Given the description of an element on the screen output the (x, y) to click on. 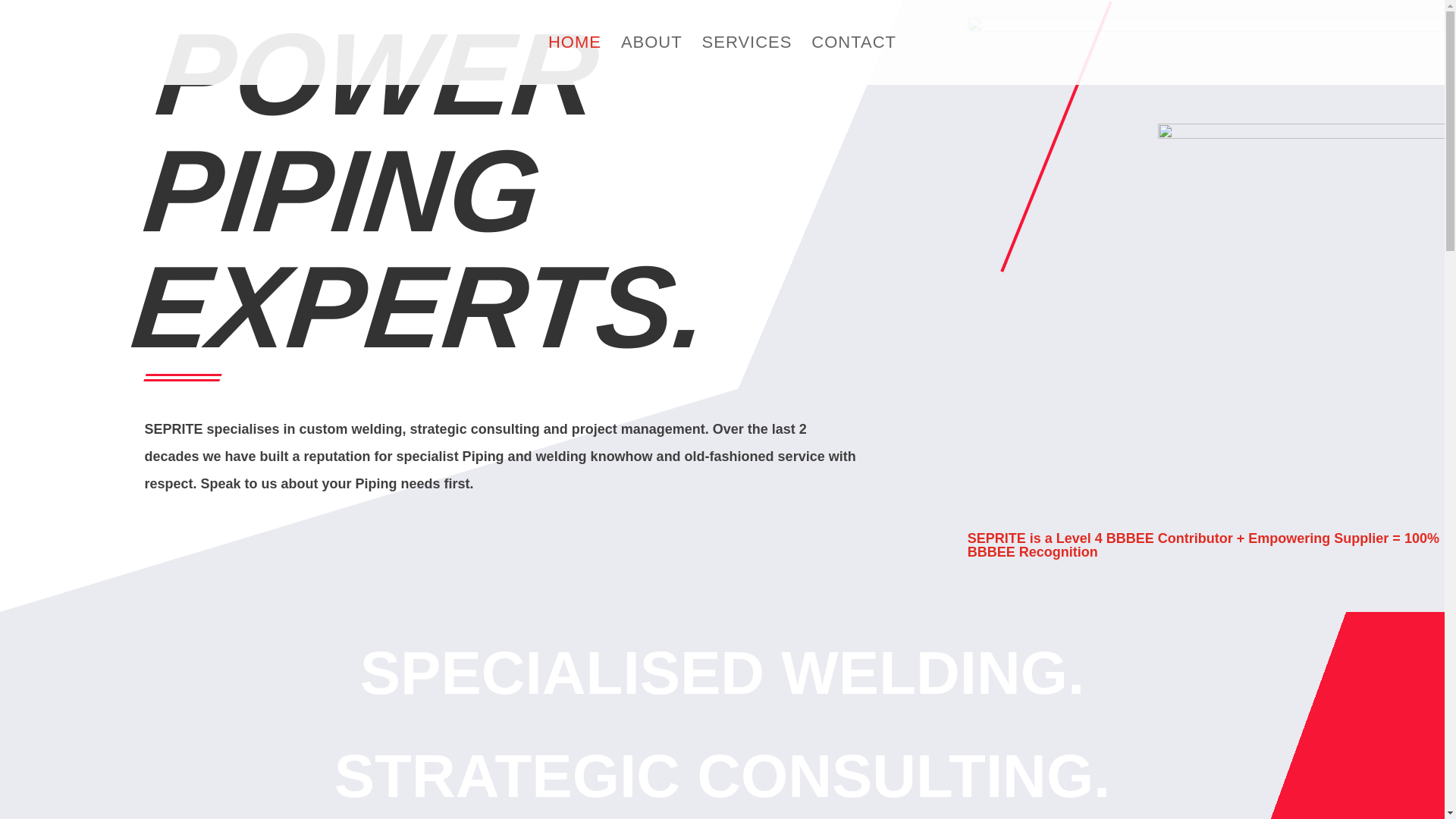
CONTACT (853, 60)
SERVICES (746, 60)
ABOUT (651, 60)
HOME (574, 60)
